Given the description of an element on the screen output the (x, y) to click on. 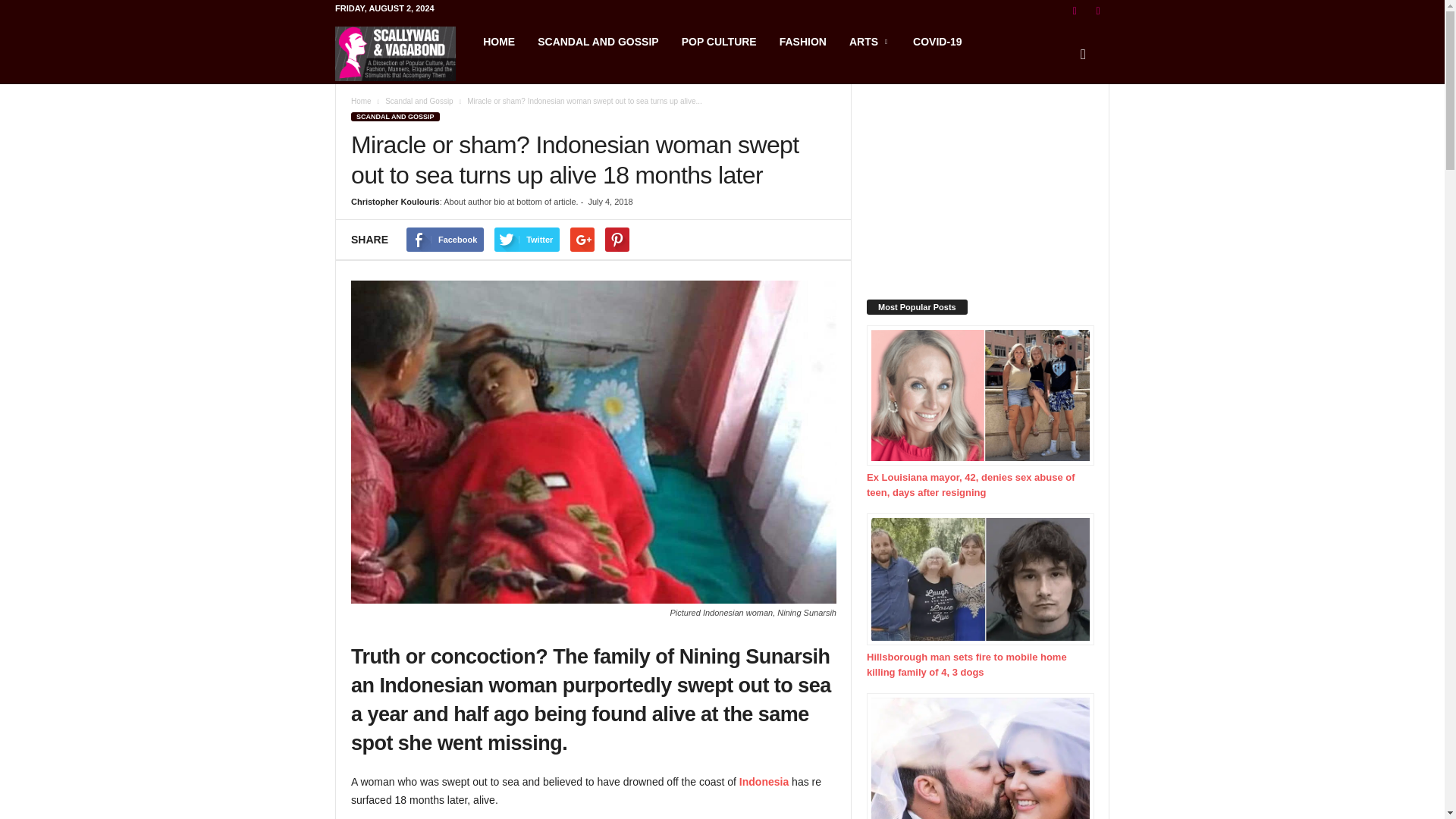
Scandal and Gossip (418, 101)
SCANDAL AND GOSSIP (394, 116)
Twitter (527, 239)
COVID-19 (937, 41)
HOME (498, 41)
Indonesia (764, 781)
Facebook (444, 239)
Christopher Koulouris (394, 201)
POP CULTURE (718, 41)
